Given the description of an element on the screen output the (x, y) to click on. 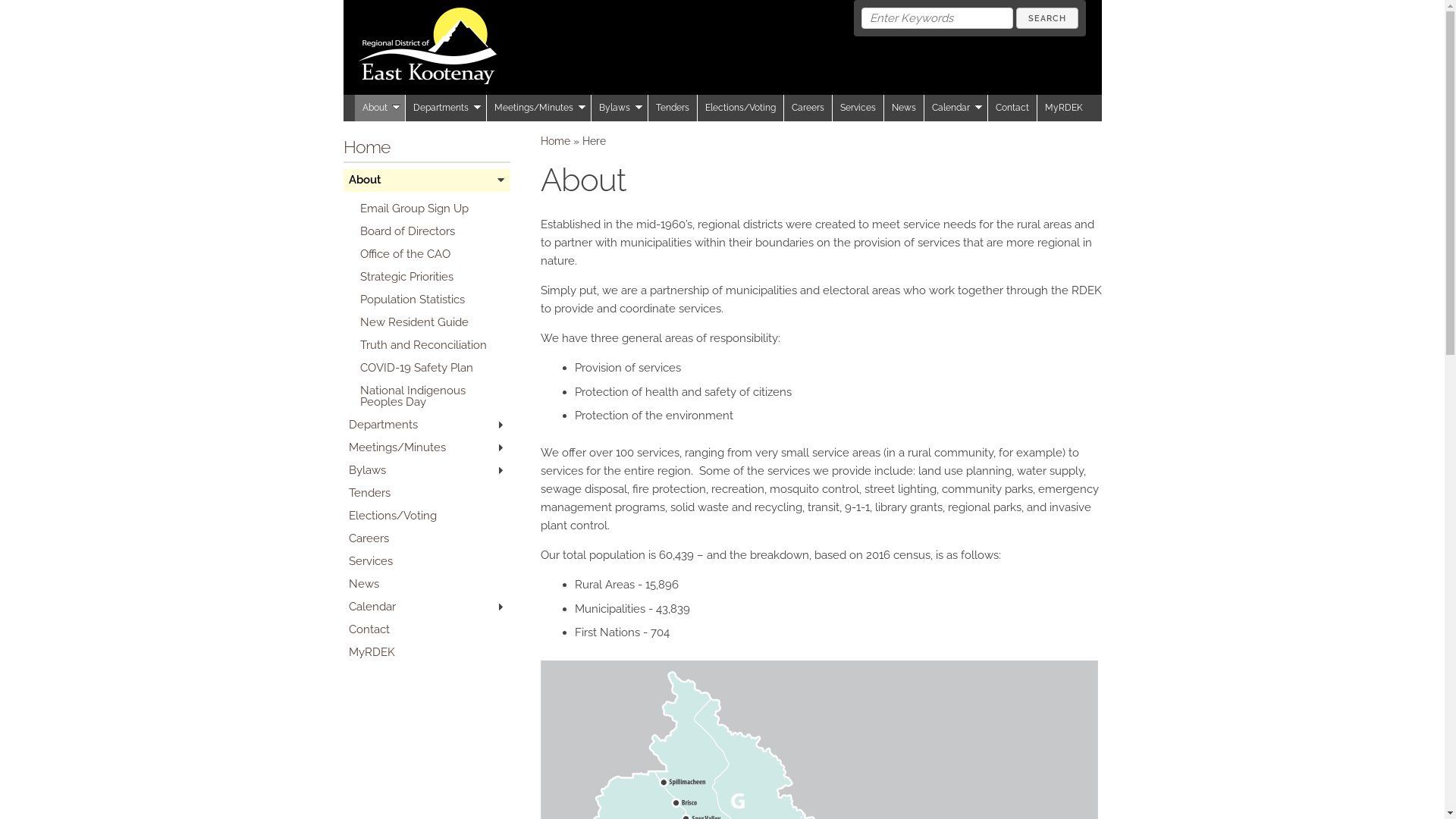
Bylaws Element type: text (425, 469)
Email Group Sign Up Element type: text (432, 208)
Contact Element type: text (1011, 107)
Elections/Voting Element type: text (425, 515)
Services Element type: text (858, 107)
Tenders Element type: text (671, 107)
Departments Element type: text (445, 107)
Population Statistics Element type: text (432, 299)
Office of the CAO Element type: text (432, 253)
Calendar Element type: text (425, 606)
Elections/Voting Element type: text (740, 107)
Meetings/Minutes Element type: text (538, 107)
Departments Element type: text (425, 424)
Meetings/Minutes Element type: text (425, 447)
Home Element type: text (365, 146)
Services Element type: text (425, 560)
Board of Directors Element type: text (432, 230)
Bylaws Element type: text (619, 107)
Calendar Element type: text (955, 107)
SEARCH Element type: text (1047, 17)
About Element type: text (379, 107)
Contact Element type: text (425, 629)
Truth and Reconciliation Element type: text (432, 344)
National Indigenous Peoples Day Element type: text (432, 396)
News Element type: text (904, 107)
MyRDEK Element type: text (1063, 107)
COVID-19 Safety Plan Element type: text (432, 367)
Tenders Element type: text (425, 492)
About Element type: text (425, 180)
Careers Element type: text (808, 107)
MyRDEK Element type: text (425, 651)
Home Element type: text (554, 140)
Strategic Priorities Element type: text (432, 276)
New Resident Guide Element type: text (432, 321)
News Element type: text (425, 583)
Careers Element type: text (425, 538)
